Given the description of an element on the screen output the (x, y) to click on. 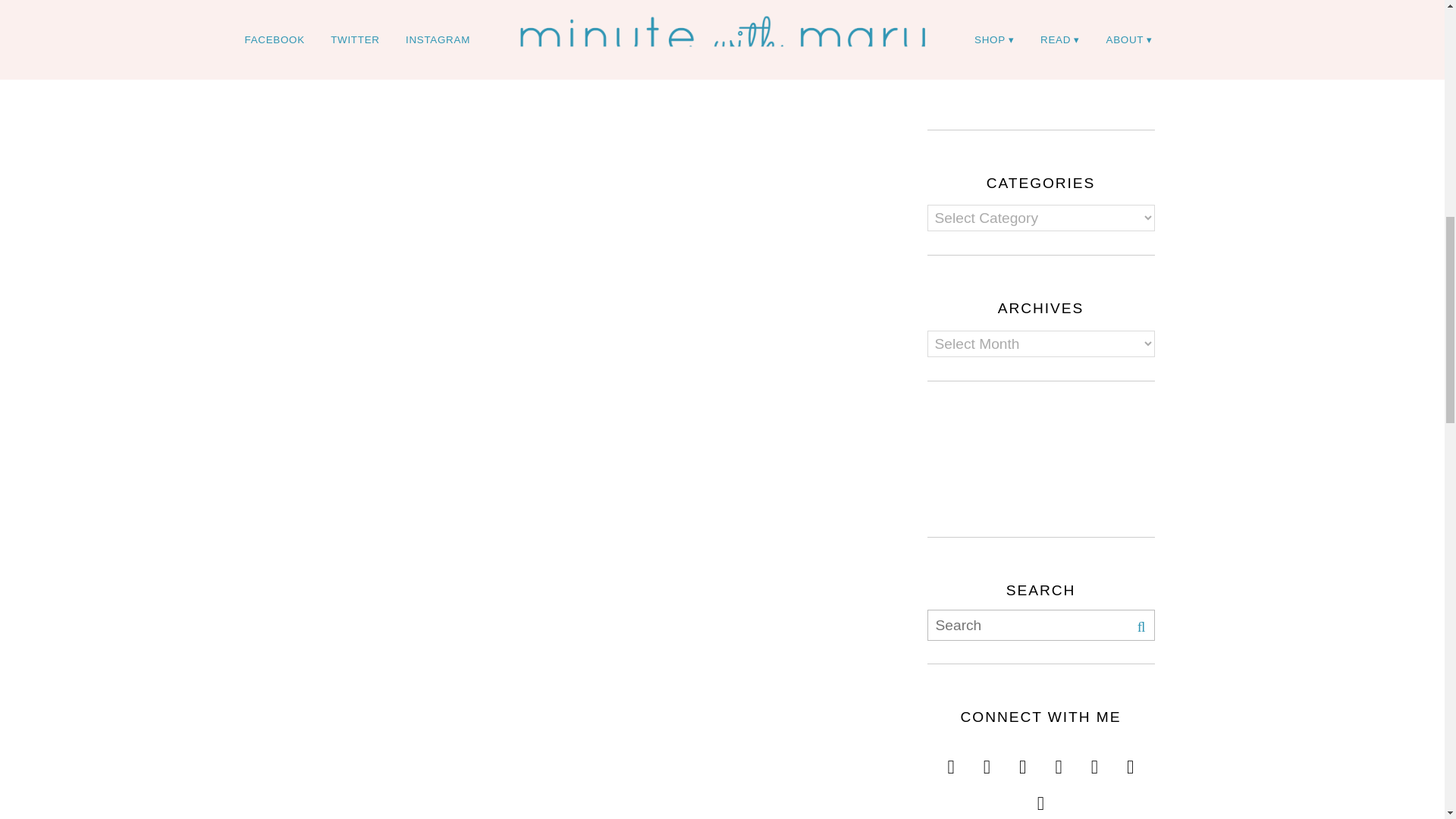
Instagram (950, 760)
YouTube (986, 760)
LinkedIn (1130, 760)
Twitter (1058, 760)
Spotify (1039, 796)
Facebook (1022, 760)
Pinterest (1093, 760)
